Given the description of an element on the screen output the (x, y) to click on. 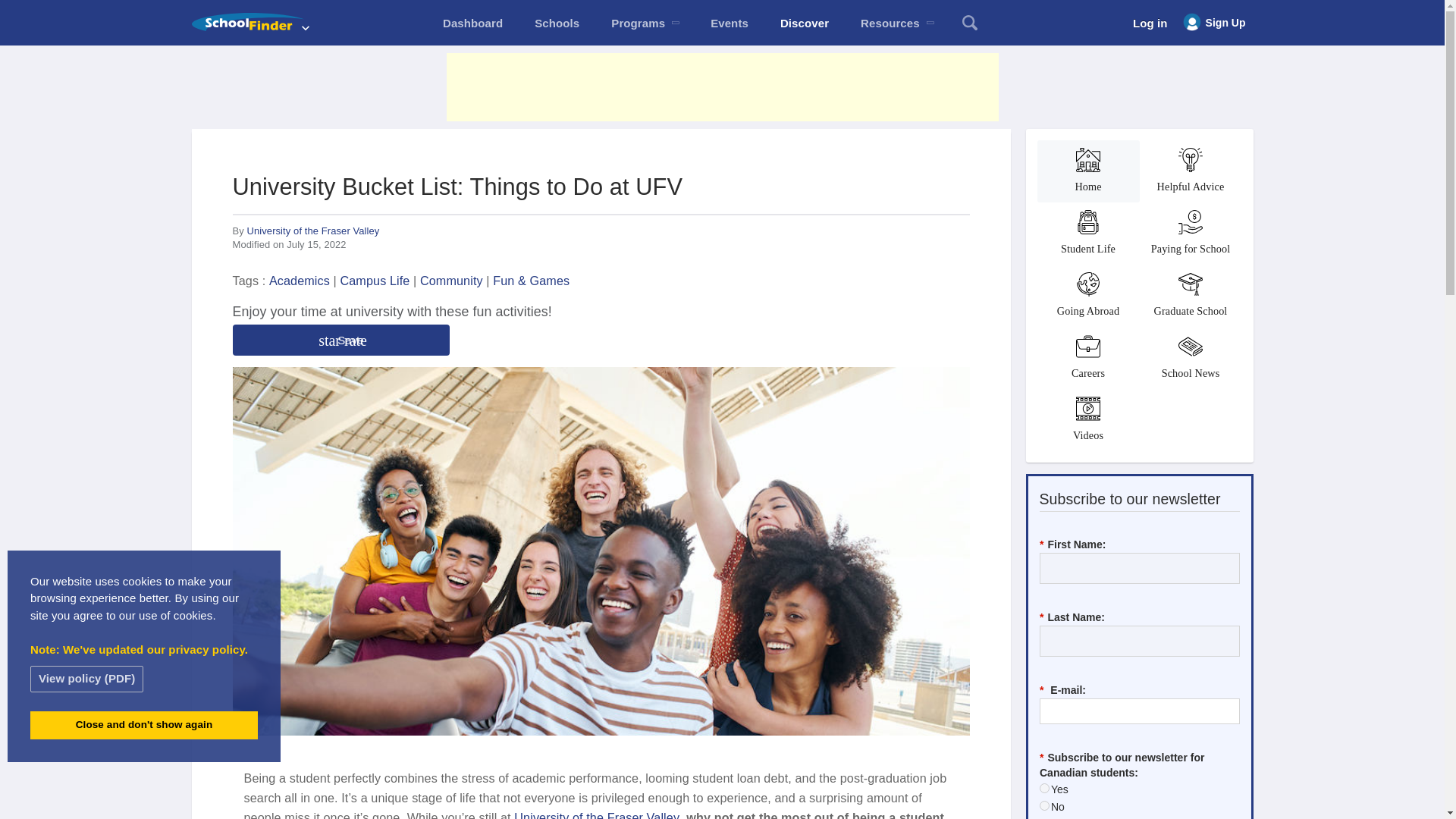
Schools (556, 22)
Events (729, 22)
Discover (804, 22)
Save (340, 339)
Community (451, 280)
Dashboard (472, 22)
Close and don't show again (143, 725)
Programs (644, 22)
Advertisement (721, 87)
mySTUFF (472, 22)
Events (729, 22)
Campus Life (374, 280)
Schools (556, 22)
Resources (896, 22)
Discover (804, 22)
